Given the description of an element on the screen output the (x, y) to click on. 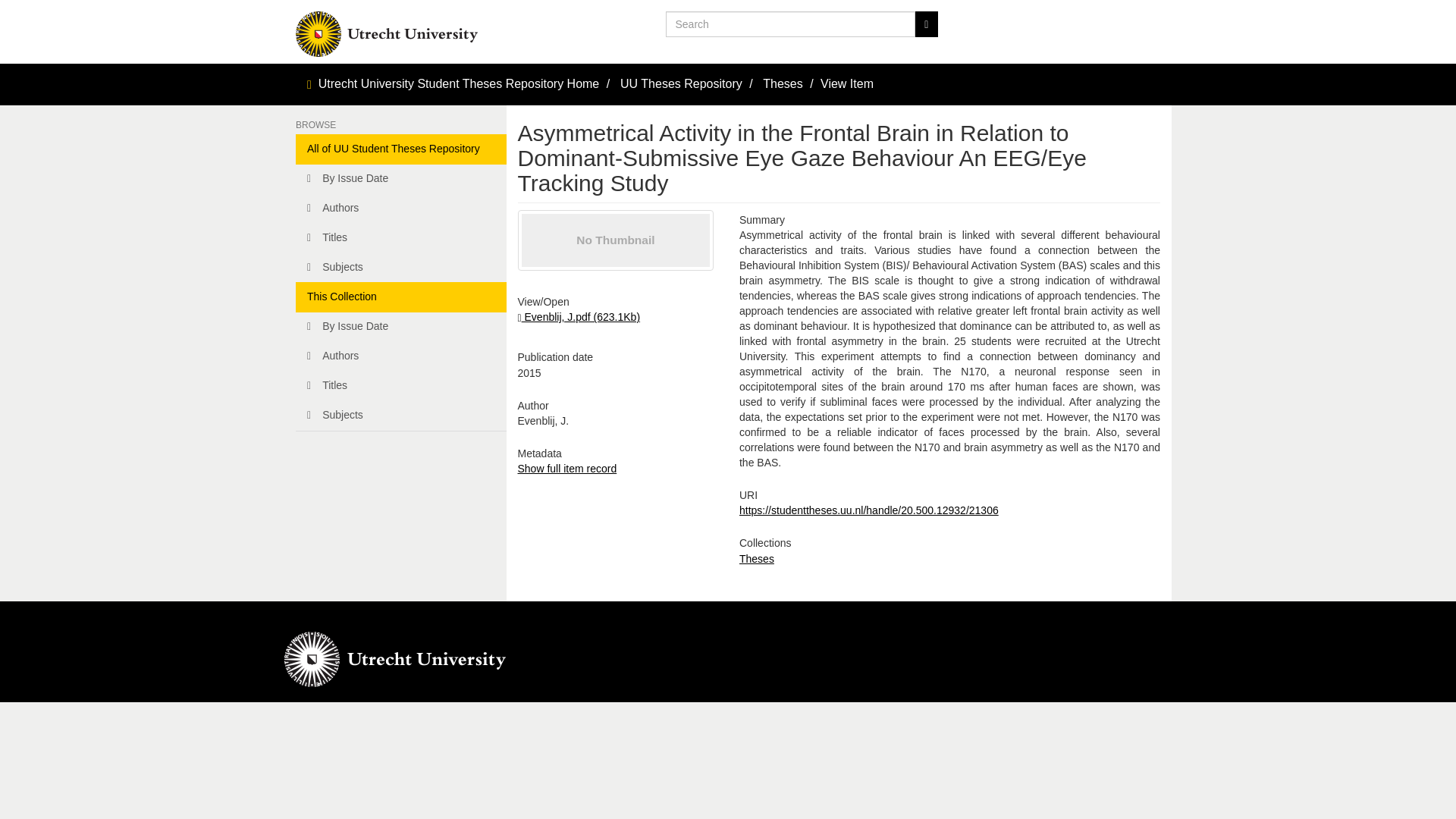
Titles (400, 386)
Utrecht University Student Theses Repository Home (458, 83)
Titles (400, 237)
Go (925, 23)
Authors (400, 356)
By Issue Date (400, 327)
Subjects (400, 267)
All of UU Student Theses Repository (400, 149)
UU Theses Repository (681, 83)
Authors (400, 208)
This Collection (400, 296)
Subjects (400, 415)
Show full item record (565, 468)
By Issue Date (400, 178)
Theses (756, 558)
